Given the description of an element on the screen output the (x, y) to click on. 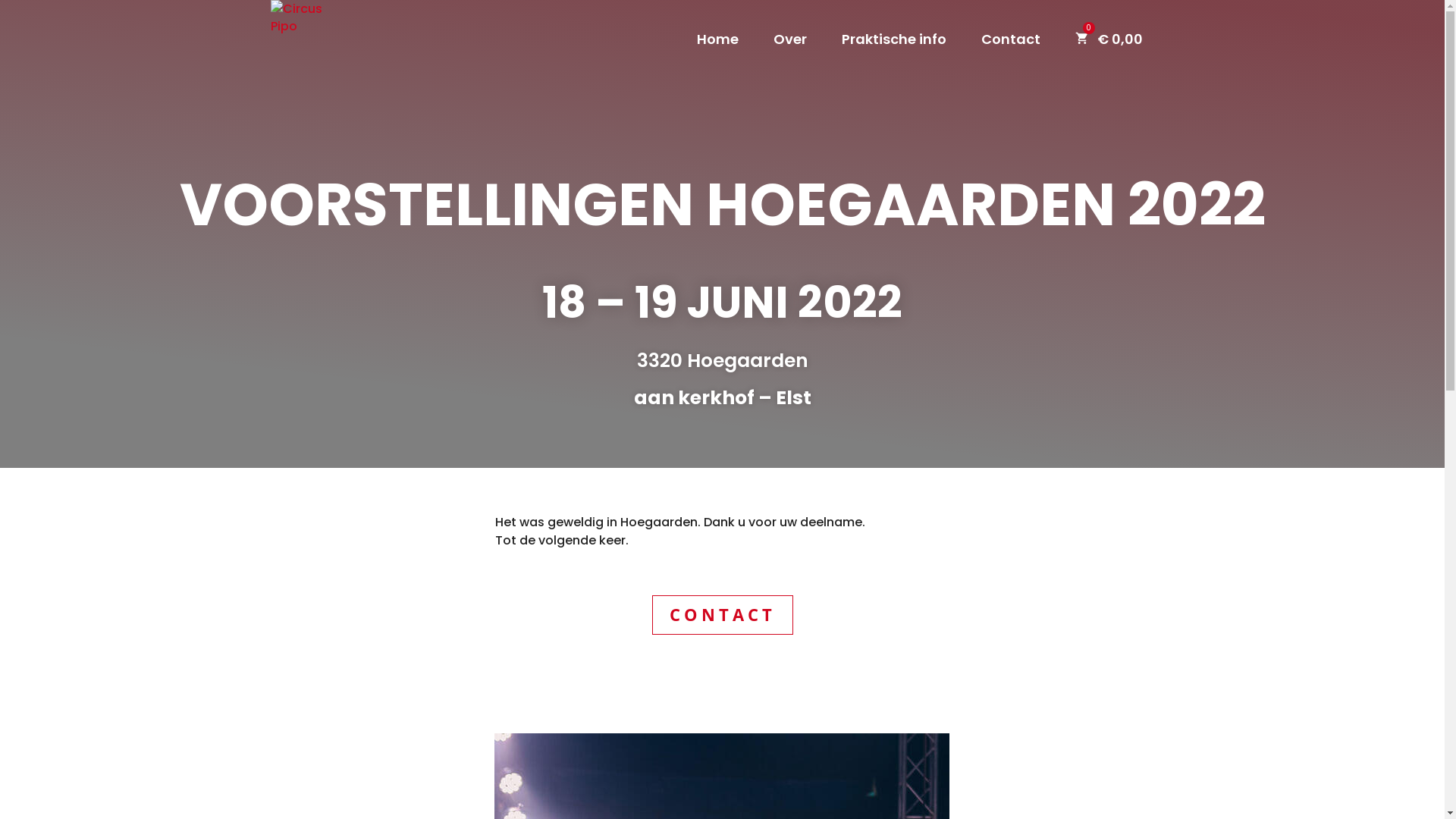
Home Element type: text (716, 55)
Contact Element type: text (1010, 55)
Praktische info Element type: text (893, 55)
Over Element type: text (790, 55)
CONTACT Element type: text (722, 615)
